Given the description of an element on the screen output the (x, y) to click on. 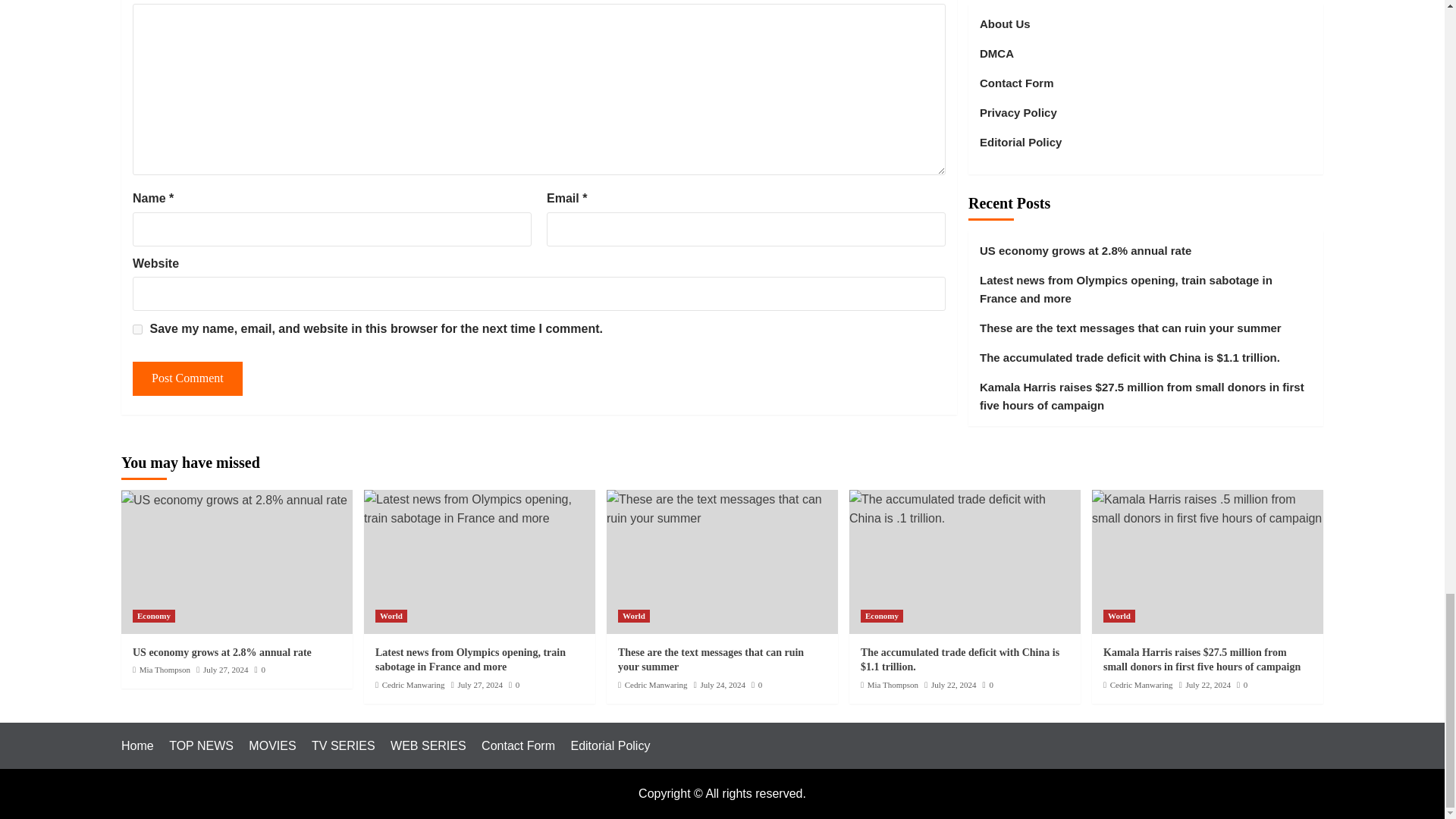
The accumulated trade deficit with China is .1 trillion. (964, 508)
Post Comment (187, 378)
These are the text messages that can ruin your summer (722, 508)
yes (137, 328)
